Given the description of an element on the screen output the (x, y) to click on. 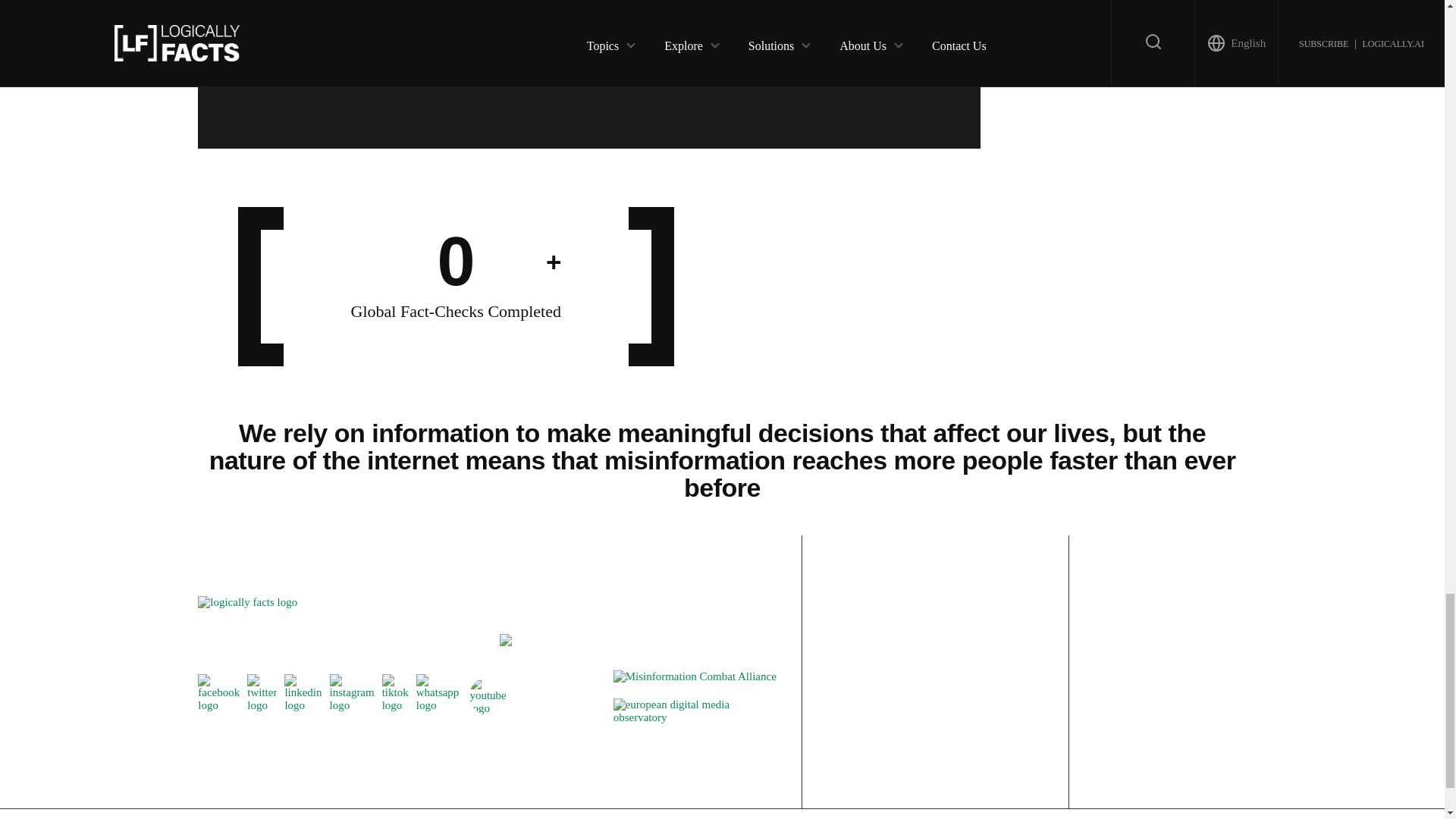
IFCN signatory (505, 642)
